Given the description of an element on the screen output the (x, y) to click on. 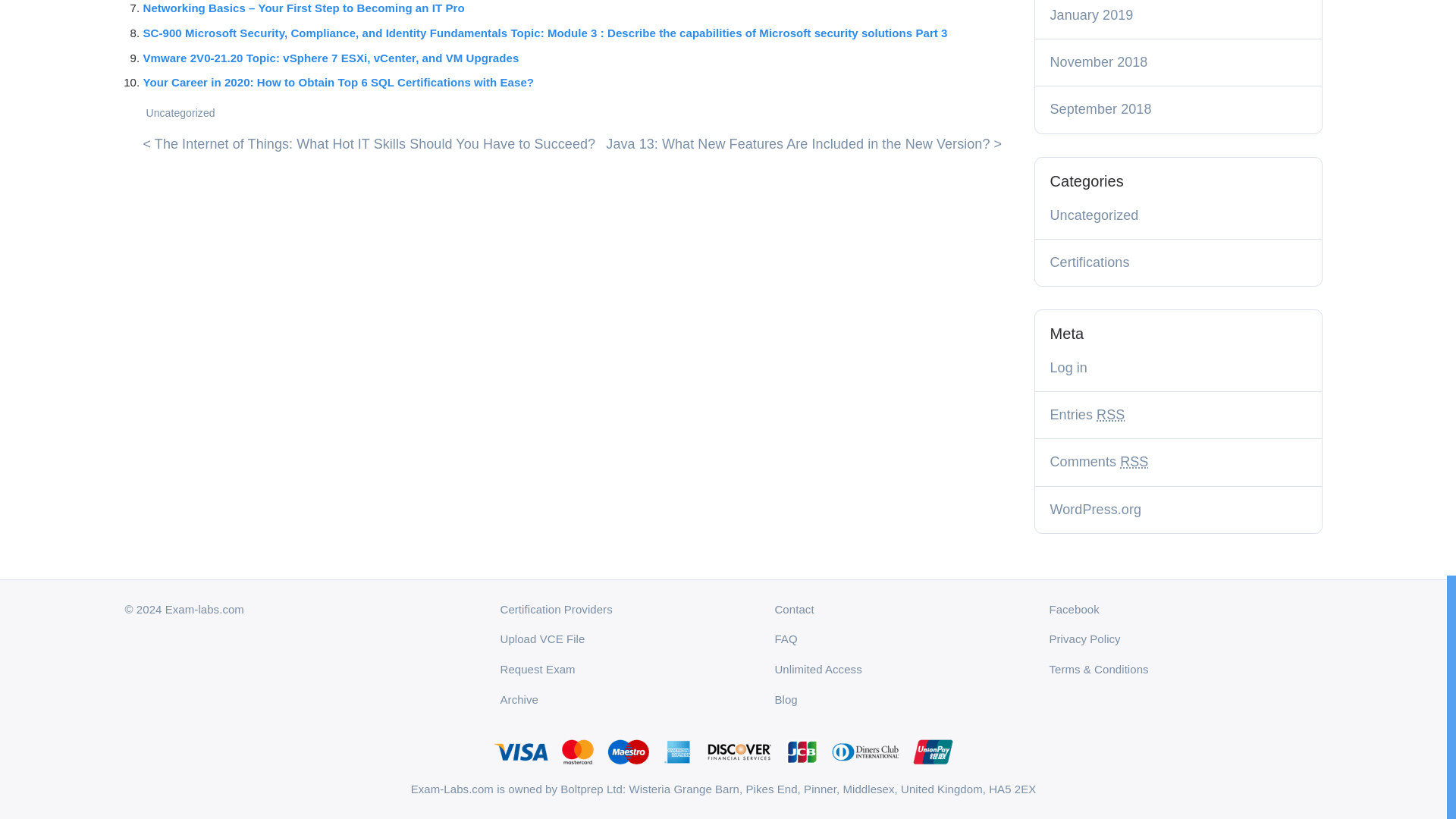
Really Simple Syndication (1110, 414)
Really Simple Syndication (1133, 461)
